Given the description of an element on the screen output the (x, y) to click on. 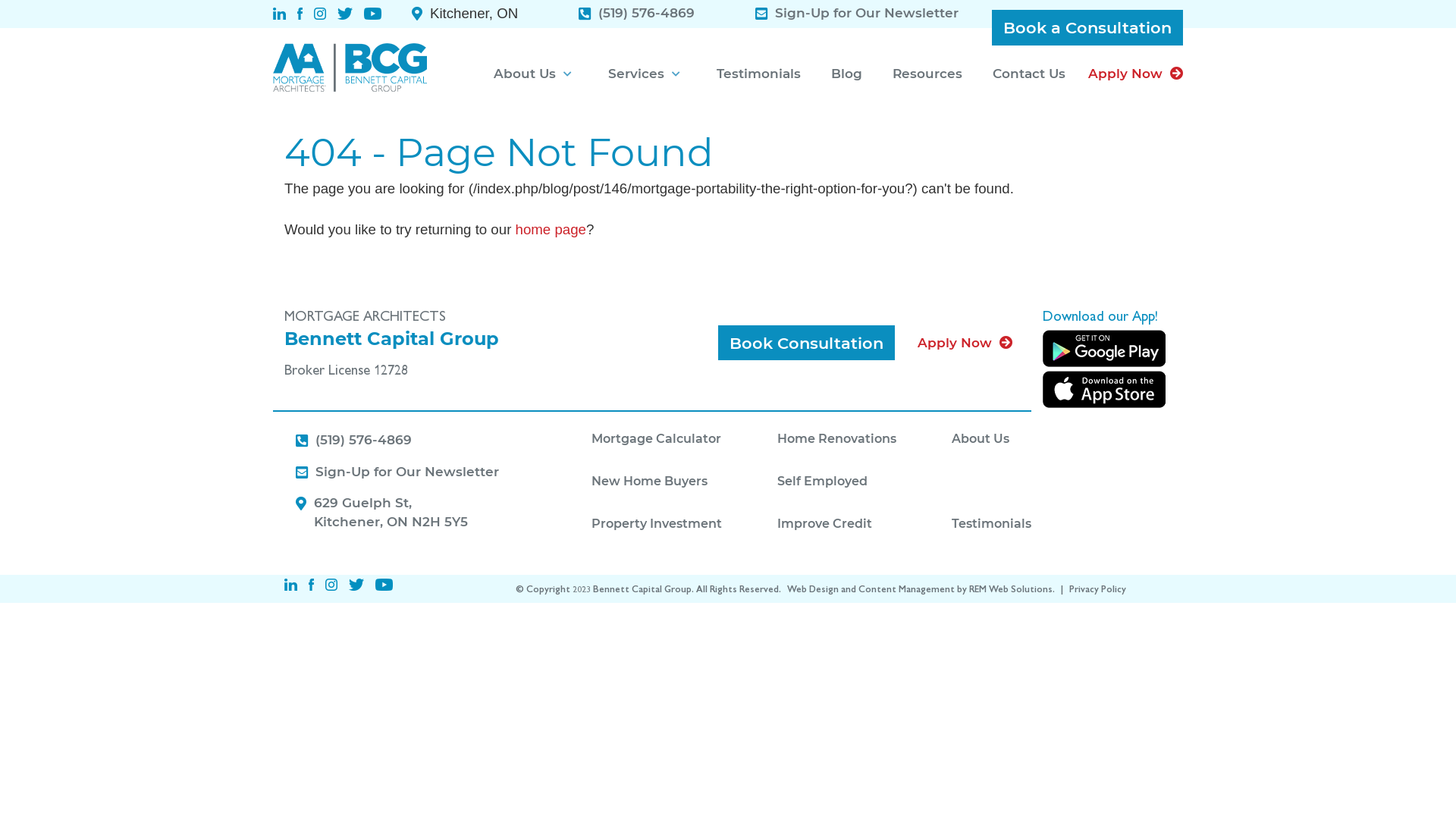
Book Consultation Element type: text (806, 342)
Apply Now Element type: text (964, 342)
629 Guelph St,
Kitchener, ON N2H 5Y5 Element type: text (390, 512)
Web Design and Content Management by REM Web Solutions. Element type: text (922, 588)
Privacy Policy Element type: text (1097, 588)
About Us Element type: text (1018, 439)
Facebook Element type: hover (310, 584)
Services Element type: text (647, 73)
Property Investment Element type: text (684, 524)
Twitter Element type: hover (356, 584)
Testimonials Element type: text (1018, 524)
Facebook Element type: hover (299, 13)
Blog Element type: text (846, 73)
Resources Element type: text (927, 73)
Instagram Element type: hover (331, 584)
Youtube Element type: hover (383, 584)
Apply Now Element type: text (1135, 73)
About Us Element type: text (535, 73)
Contact Us Element type: text (1028, 73)
(519) 576-4869 Element type: text (646, 13)
Testimonials Element type: text (758, 73)
Instagram Element type: hover (319, 13)
New Home Buyers Element type: text (684, 481)
Home Renovations Element type: text (864, 439)
Improve Credit Element type: text (864, 524)
Book a Consultation Element type: text (1087, 26)
Mortgage Calculator Element type: text (684, 439)
Sign-Up for Our Newsletter Element type: text (866, 13)
(519) 576-4869 Element type: text (363, 440)
Self Employed Element type: text (864, 481)
Bennett Capital Element type: hover (349, 67)
Youtube Element type: hover (372, 13)
LinkedIn Element type: hover (279, 13)
Sign-Up for Our Newsletter Element type: text (406, 472)
home page Element type: text (550, 229)
Twitter Element type: hover (344, 13)
LinkedIn Element type: hover (290, 584)
